Given the description of an element on the screen output the (x, y) to click on. 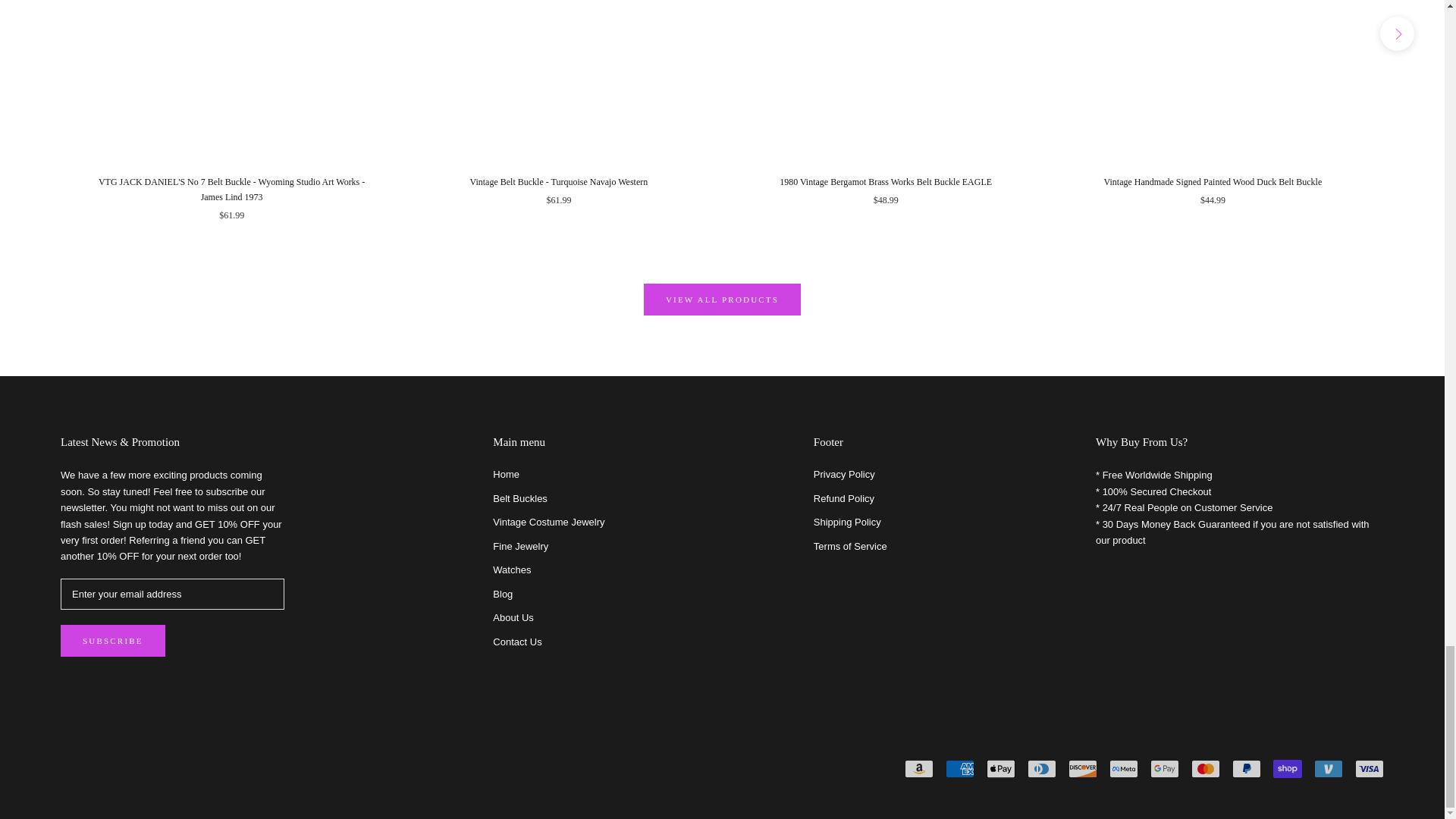
American Express (959, 769)
Discover (1082, 769)
Visa (1369, 769)
Amazon (918, 769)
Mastercard (1205, 769)
Google Pay (1164, 769)
Shop Pay (1286, 769)
Venmo (1328, 769)
PayPal (1245, 769)
Diners Club (1042, 769)
Meta Pay (1123, 769)
Apple Pay (1000, 769)
